Given the description of an element on the screen output the (x, y) to click on. 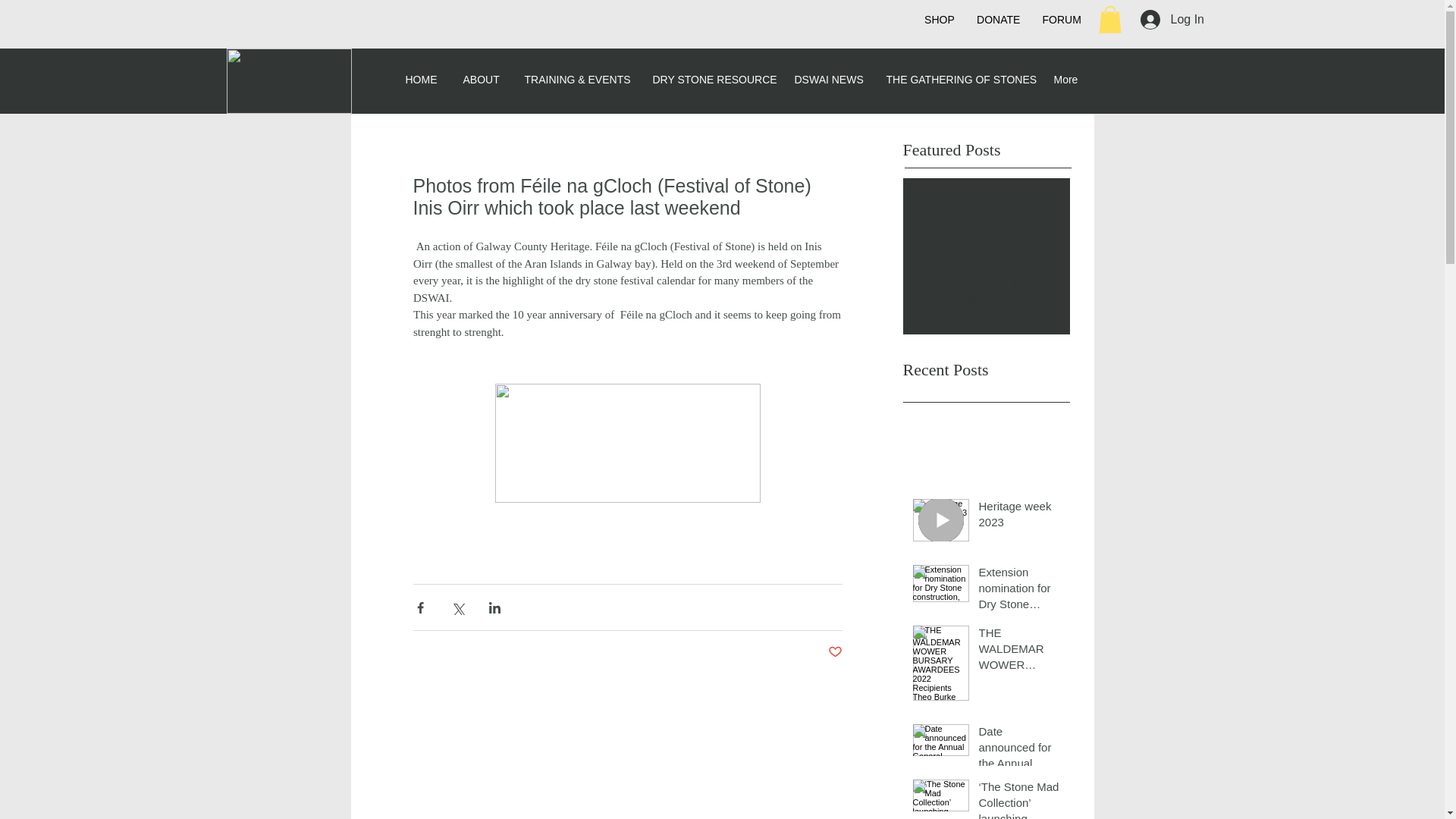
Date announced for the Annual General Meeting of The DSWAI (1018, 750)
SHOP (938, 19)
DONATE (997, 19)
Post not marked as liked (835, 652)
FORUM (1061, 19)
THE GATHERING OF STONES (958, 79)
HOME (422, 79)
ABOUT (482, 79)
Log In (1168, 18)
DSWAI NEWS (829, 79)
